Given the description of an element on the screen output the (x, y) to click on. 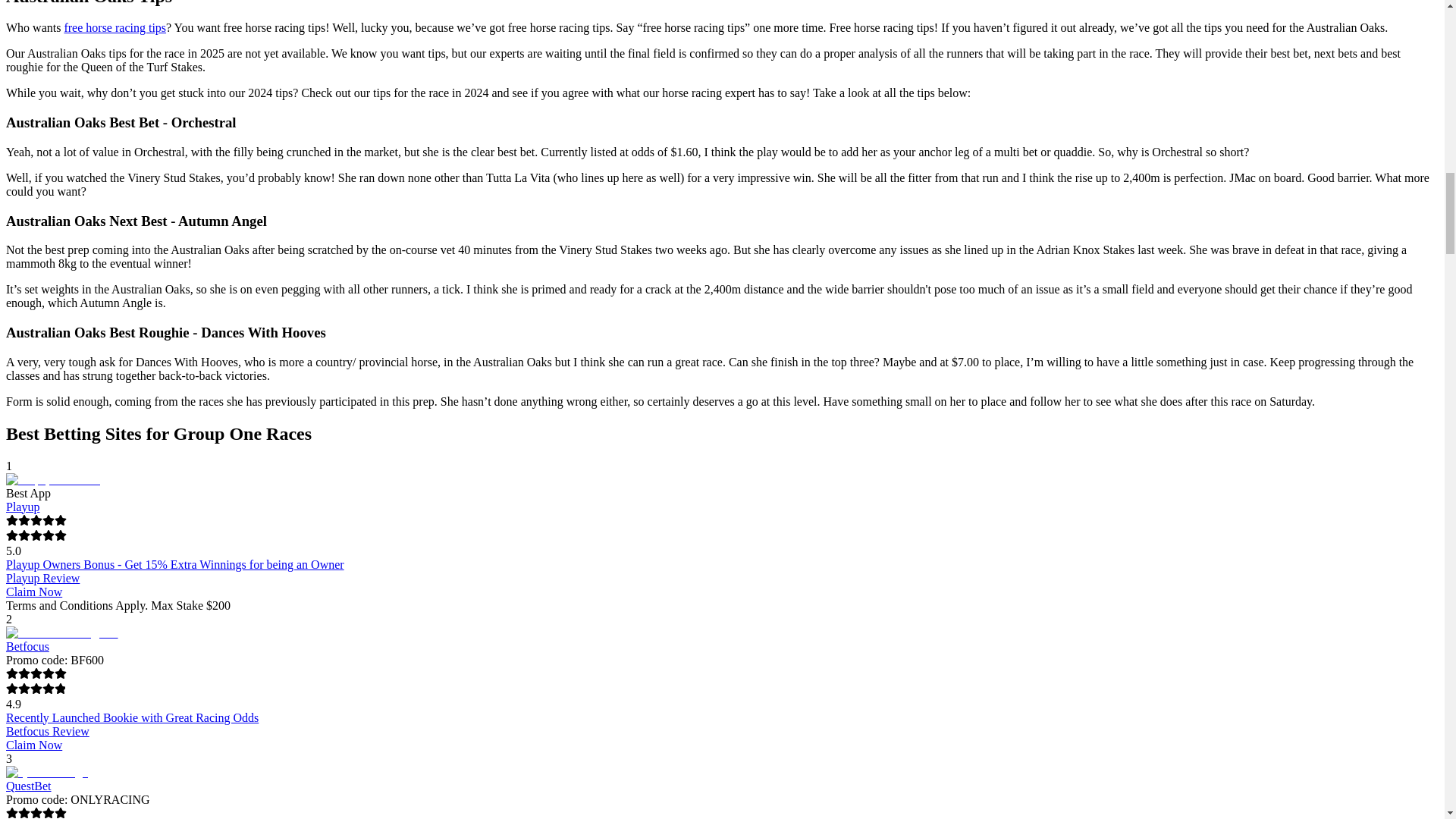
QuestBet logo (46, 772)
